Given the description of an element on the screen output the (x, y) to click on. 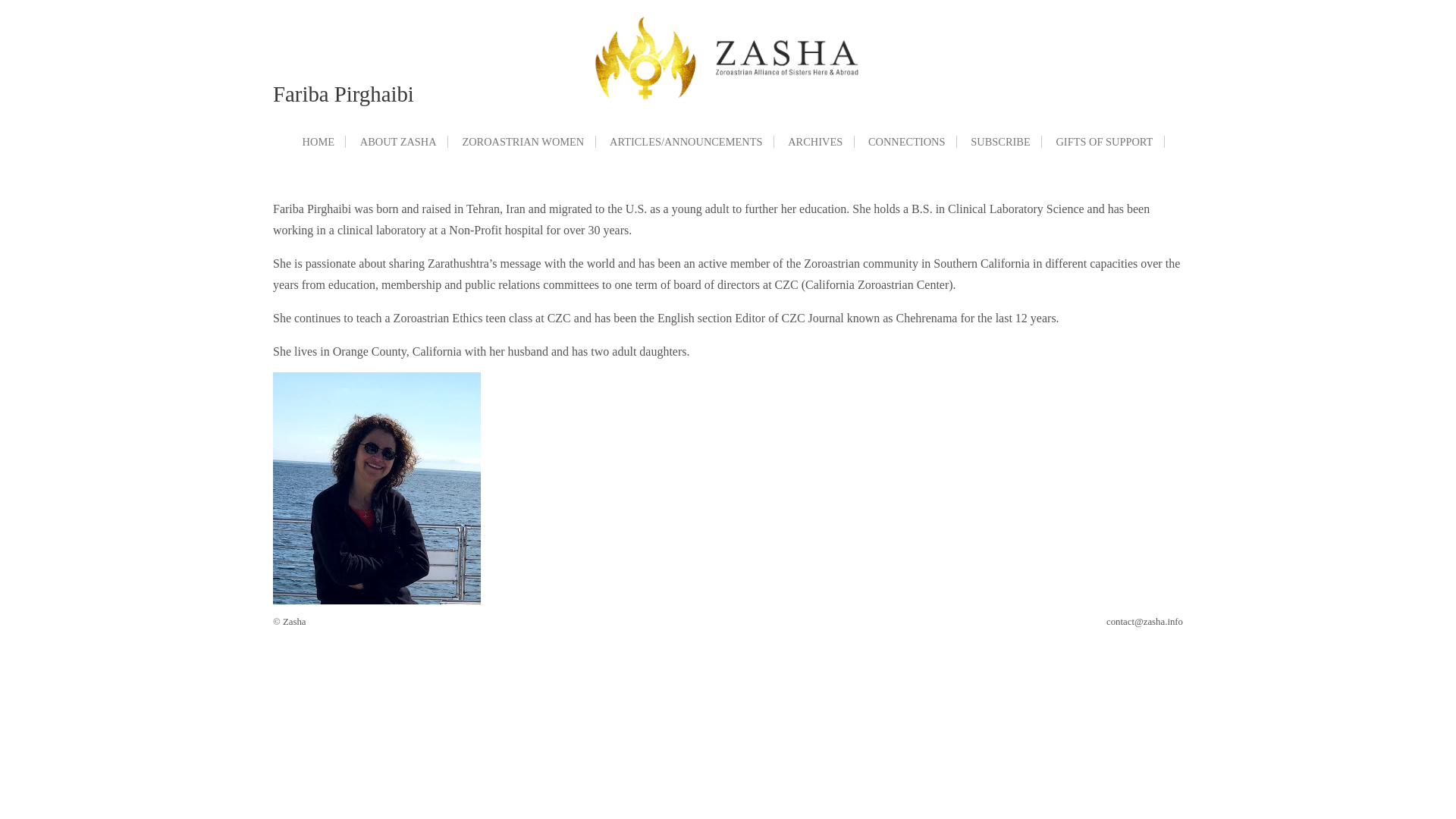
SUBSCRIBE (1000, 141)
ZOROASTRIAN WOMEN (523, 141)
HOME (318, 141)
ABOUT ZASHA (398, 141)
GIFTS OF SUPPORT (1104, 141)
ARCHIVES (815, 141)
CONNECTIONS (906, 141)
